Given the description of an element on the screen output the (x, y) to click on. 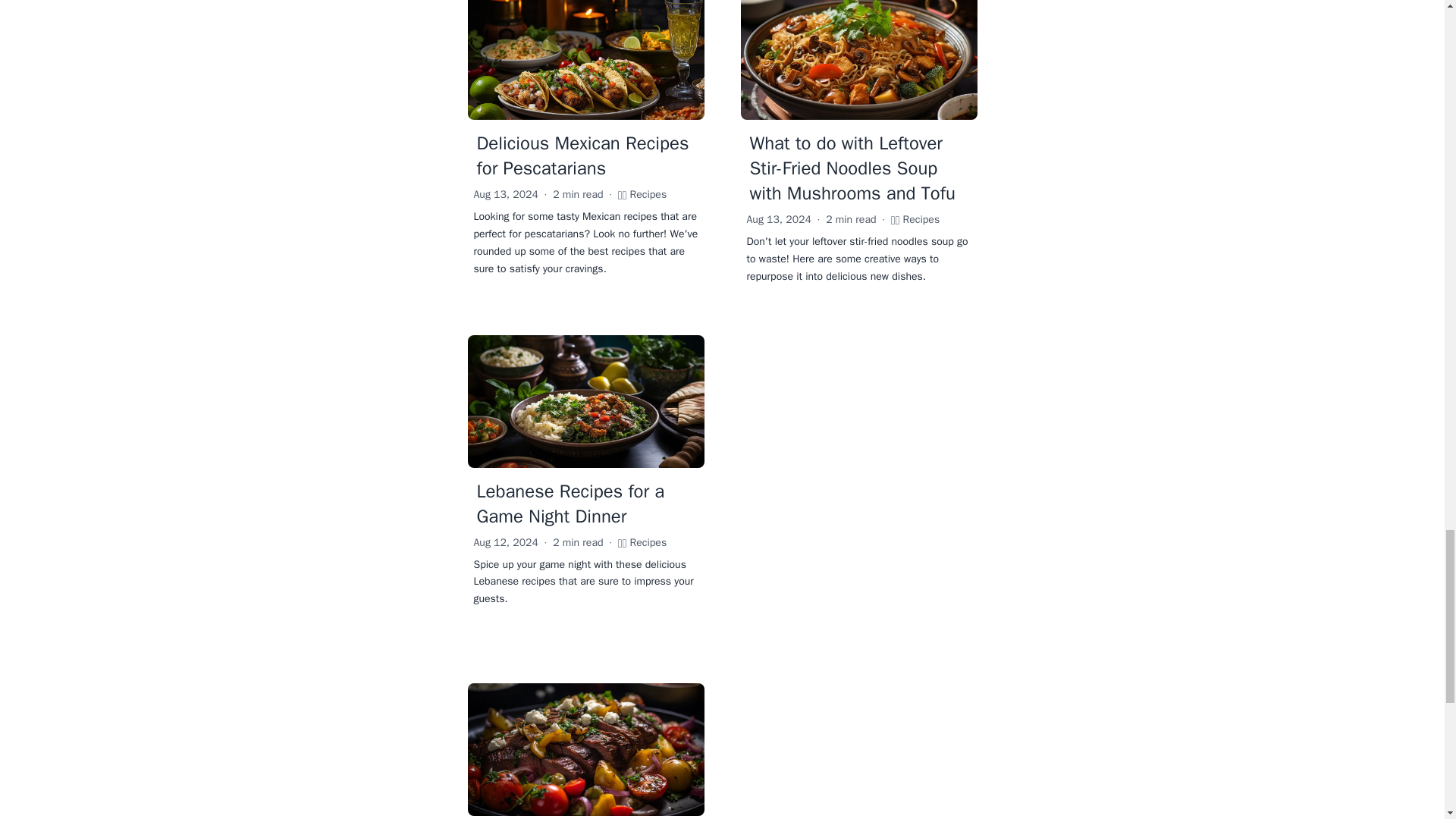
Lebanese Recipes for a Game Night Dinner (569, 504)
Delicious Mexican Recipes for Pescatarians (582, 156)
